Given the description of an element on the screen output the (x, y) to click on. 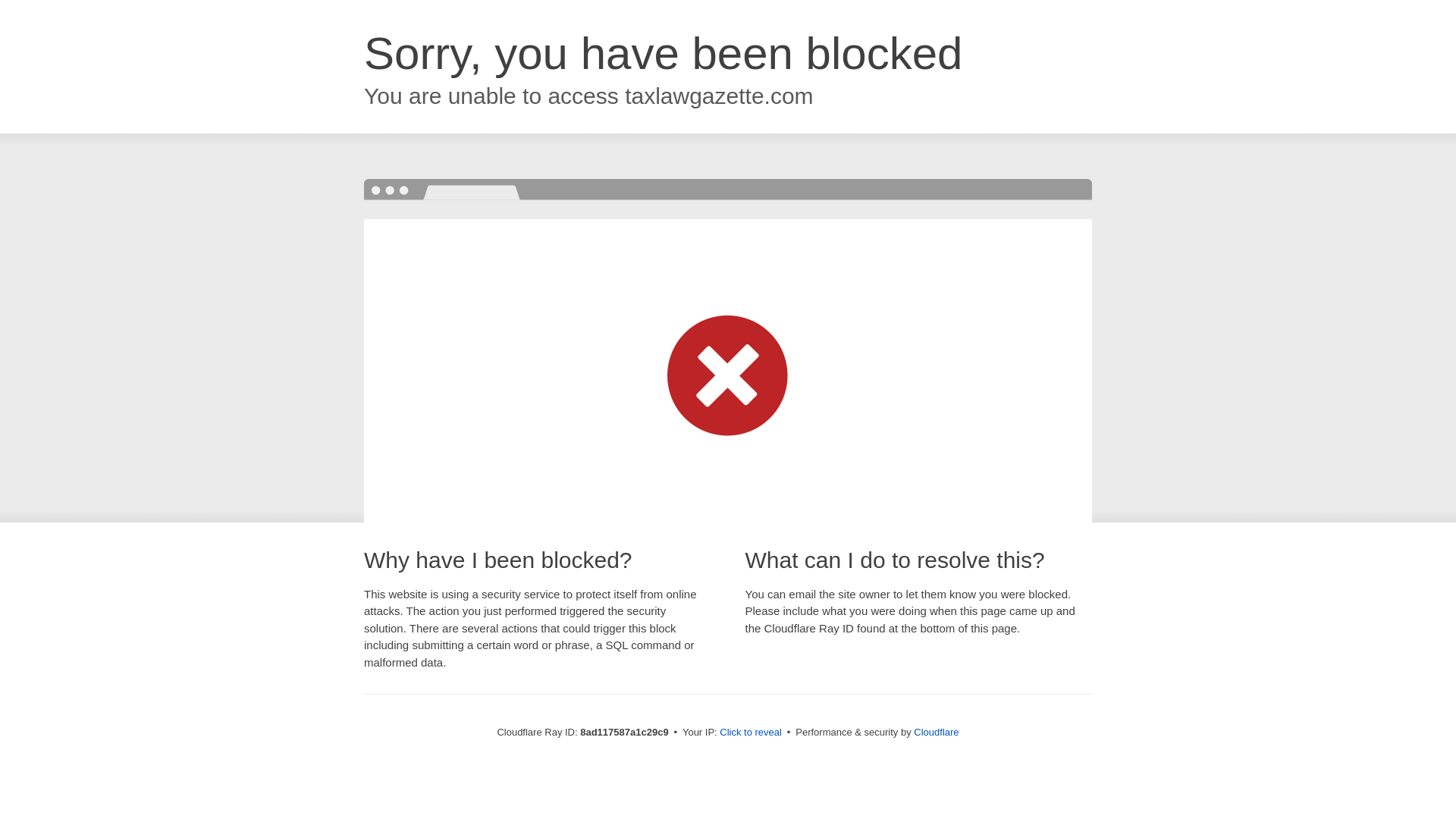
Click to reveal (750, 732)
Cloudflare (936, 731)
